Given the description of an element on the screen output the (x, y) to click on. 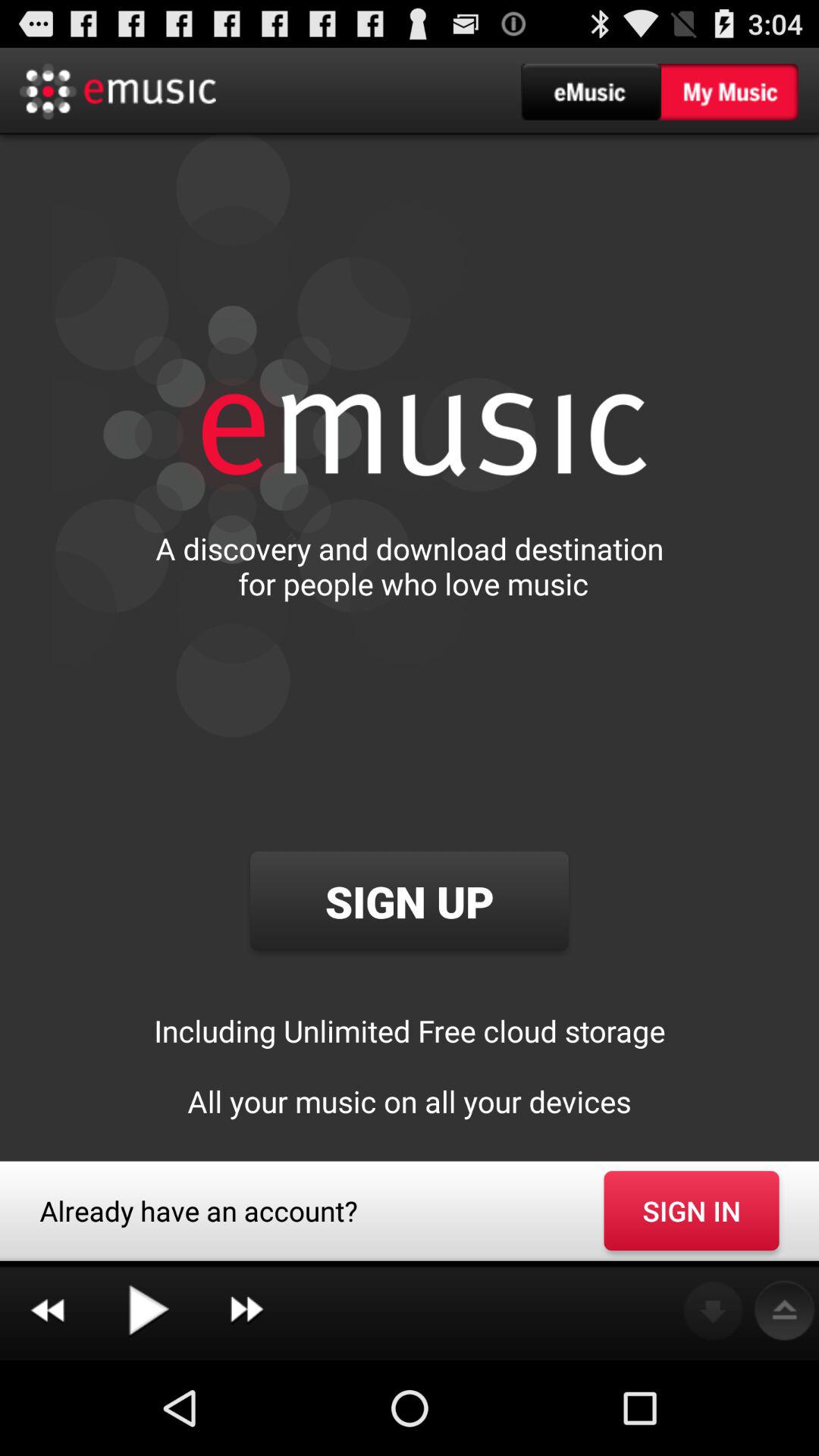
click the app below the including unlimited free (691, 1210)
